Given the description of an element on the screen output the (x, y) to click on. 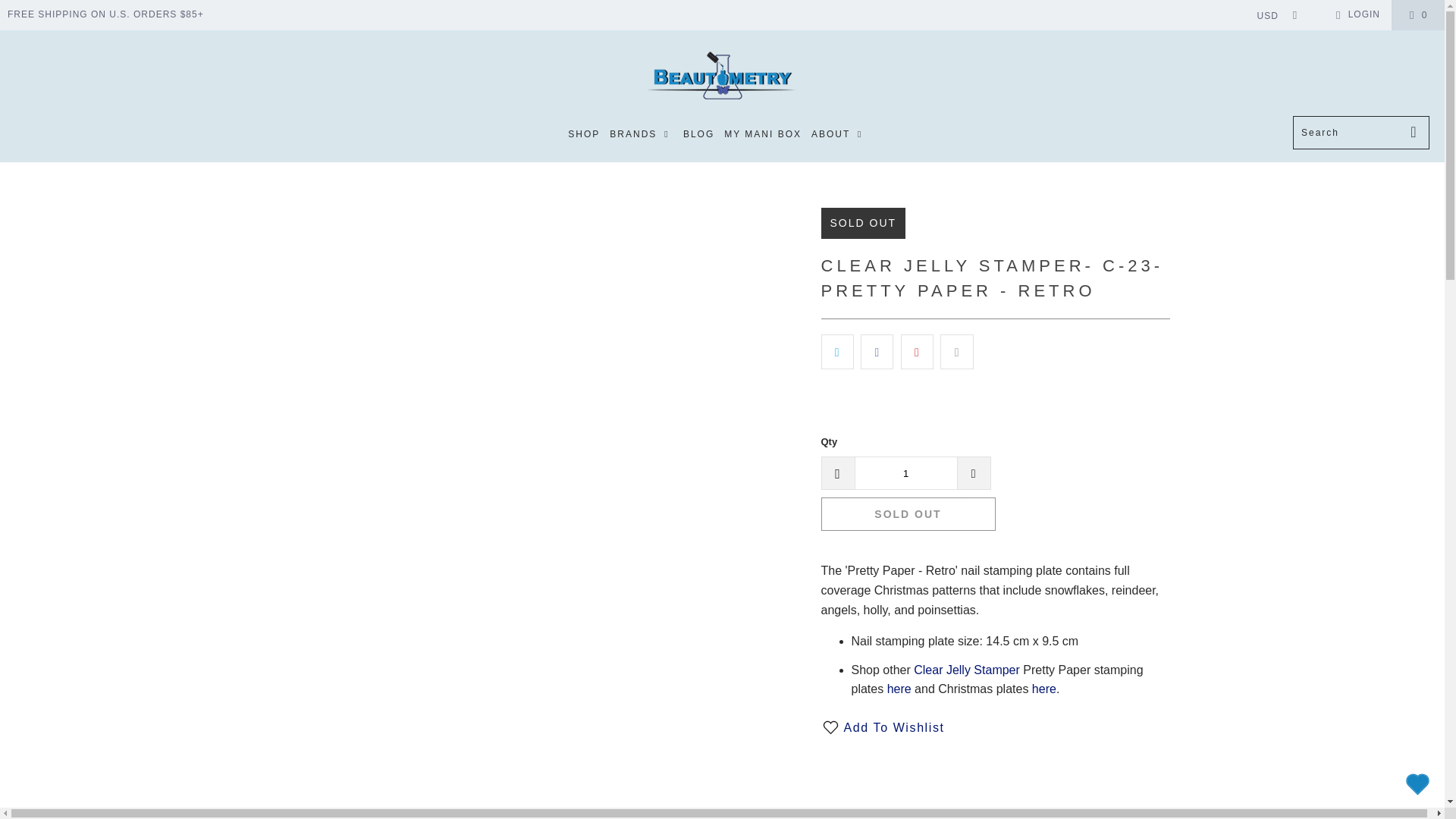
My Account  (1355, 14)
clear jelly stamper christmas nail stamping plates (1044, 688)
clear jelly stamper pretty paper series (898, 688)
Share this on Facebook (876, 351)
Beautometry (721, 76)
clear jelly stamper products (967, 669)
Share this on Twitter (837, 351)
Share this on Pinterest (917, 351)
Email this to a friend (956, 351)
1 (904, 472)
